Given the description of an element on the screen output the (x, y) to click on. 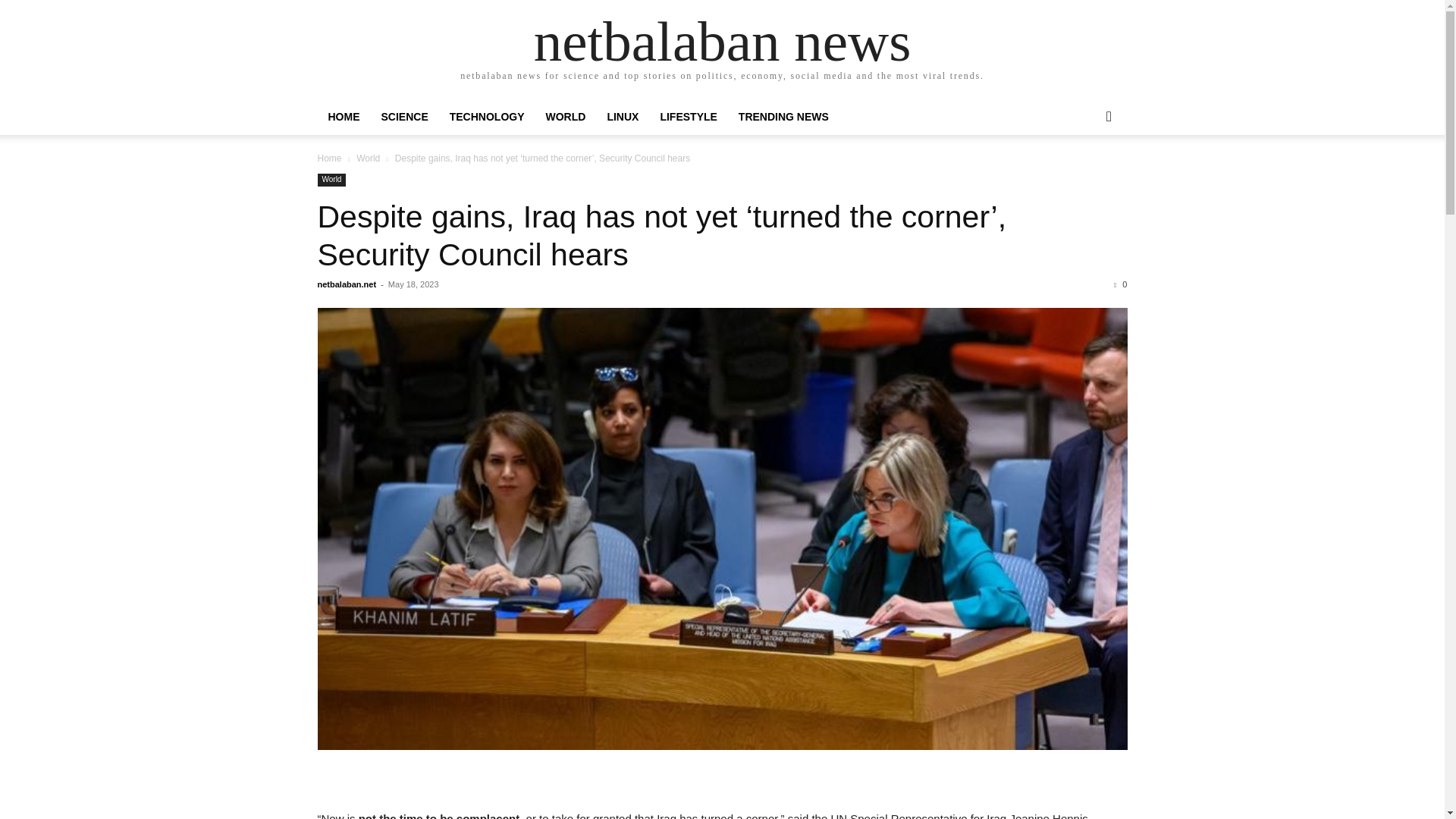
View all posts in World (368, 158)
World (331, 179)
netbalaban news (722, 41)
LIFESTYLE (687, 116)
TRENDING NEWS (784, 116)
SCIENCE (403, 116)
Search (1085, 177)
WORLD (565, 116)
TECHNOLOGY (487, 116)
World (368, 158)
0 (1119, 284)
Home (328, 158)
netbalaban.net (346, 284)
HOME (343, 116)
LINUX (622, 116)
